Given the description of an element on the screen output the (x, y) to click on. 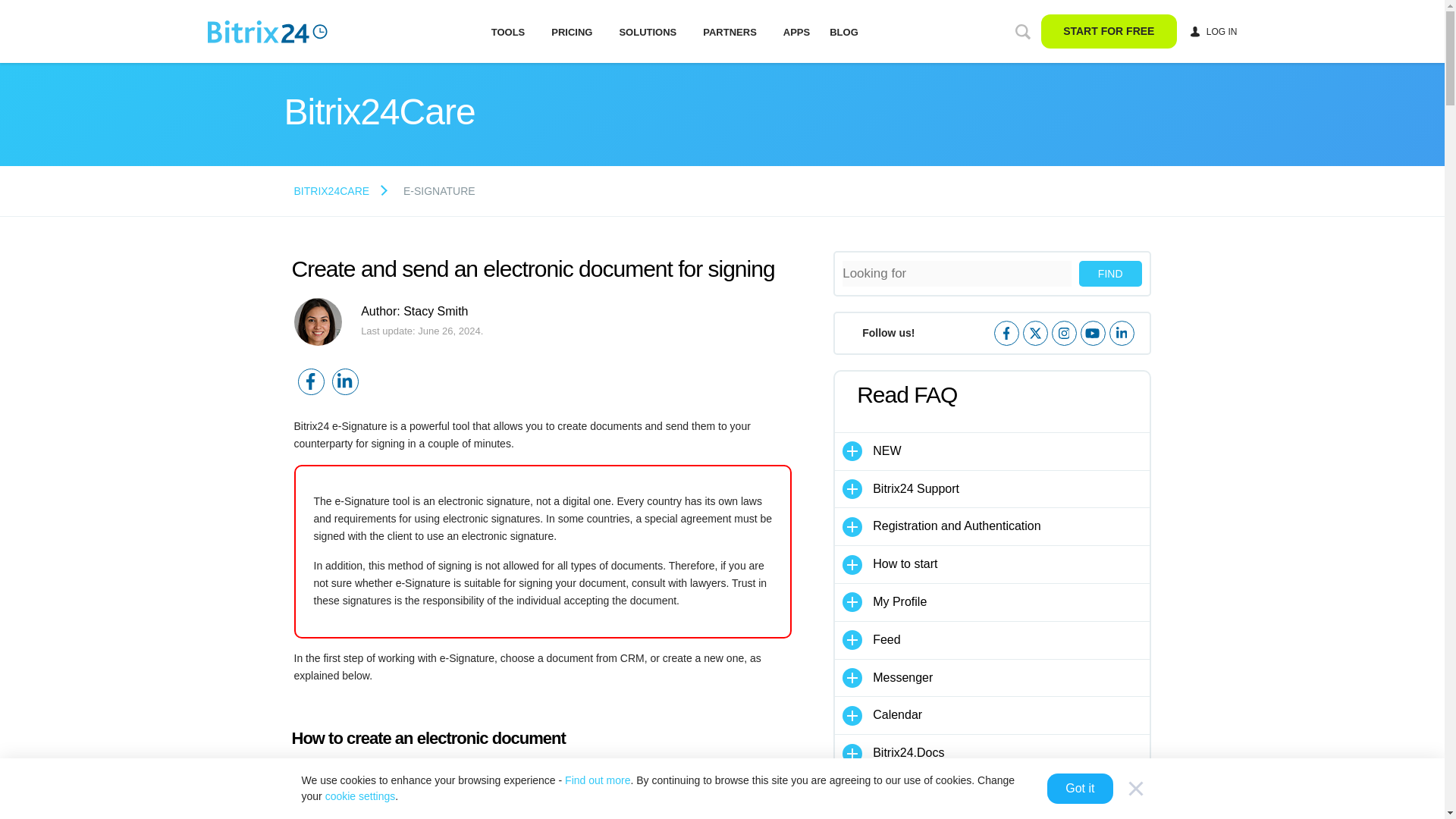
PARTNERS (729, 31)
START FOR FREE (1108, 31)
BLOG (843, 30)
SOLUTIONS (646, 31)
Create document (541, 808)
TOOLS (508, 31)
Find (1109, 273)
BITRIX24CARE (331, 191)
PRICING (571, 31)
APPS (796, 31)
Find (1109, 273)
